Given the description of an element on the screen output the (x, y) to click on. 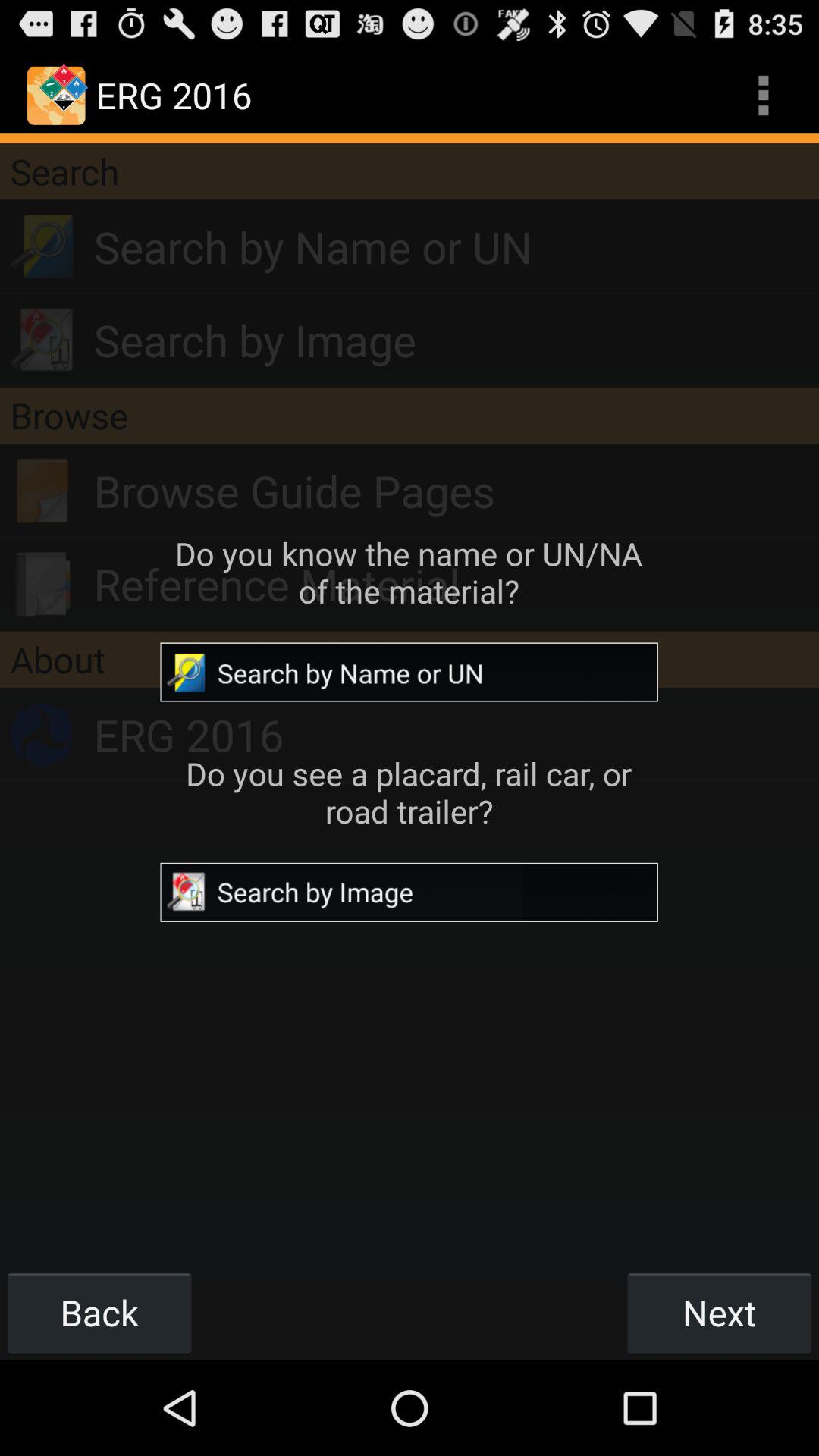
swipe until browse guide pages icon (456, 490)
